Given the description of an element on the screen output the (x, y) to click on. 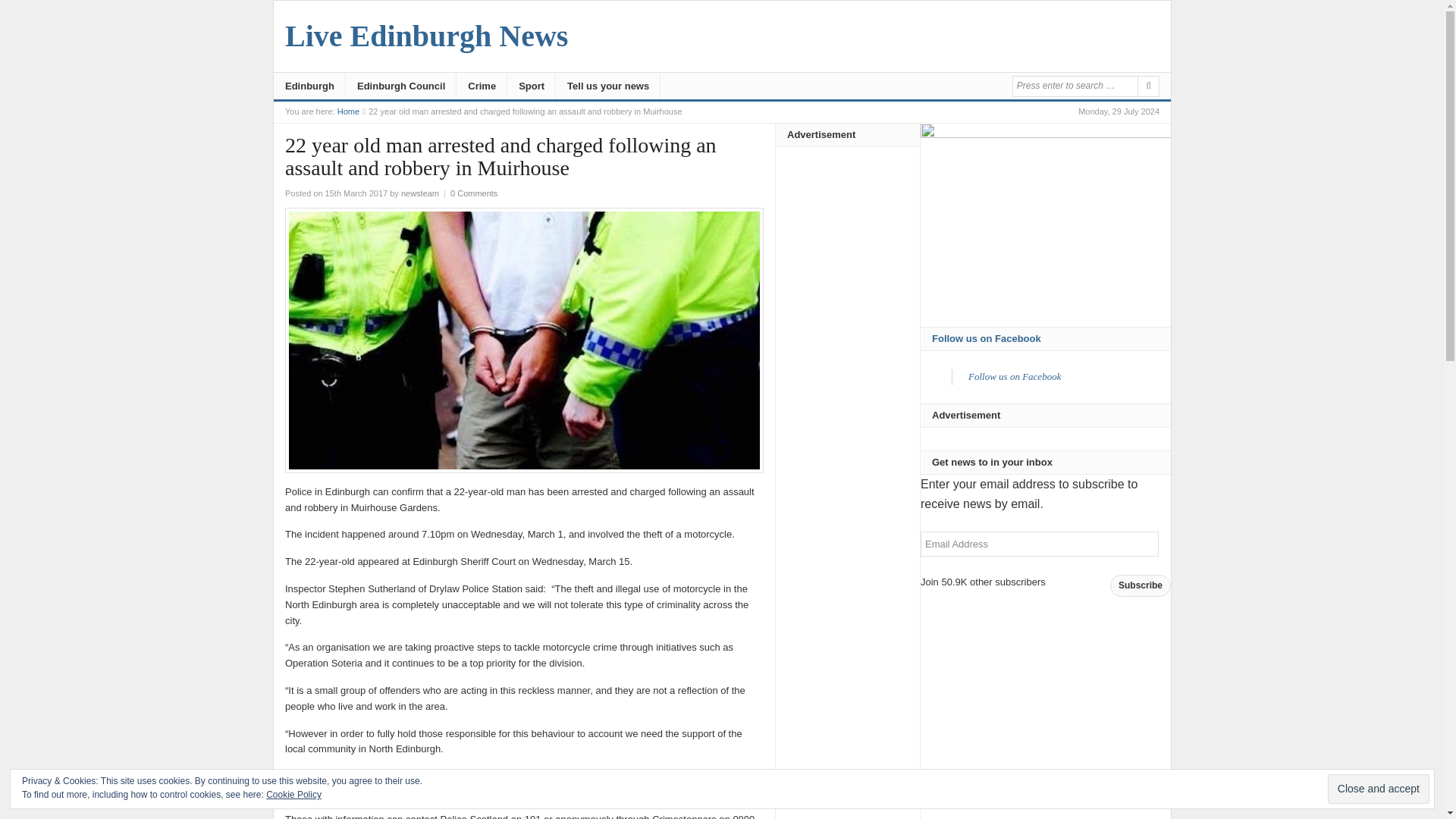
Crime (481, 86)
Live Edinburgh News (348, 111)
Cookie Policy (293, 794)
Follow us on Facebook (986, 337)
Search for: (1073, 85)
Live Edinburgh News (426, 35)
Tell us your news (608, 86)
Close and accept (1378, 788)
Close and accept (1378, 788)
newsteam (420, 193)
Home (348, 111)
Edinburgh (309, 86)
Follow us on Facebook (1014, 376)
0 Comments (473, 193)
Edinburgh Council (401, 86)
